Given the description of an element on the screen output the (x, y) to click on. 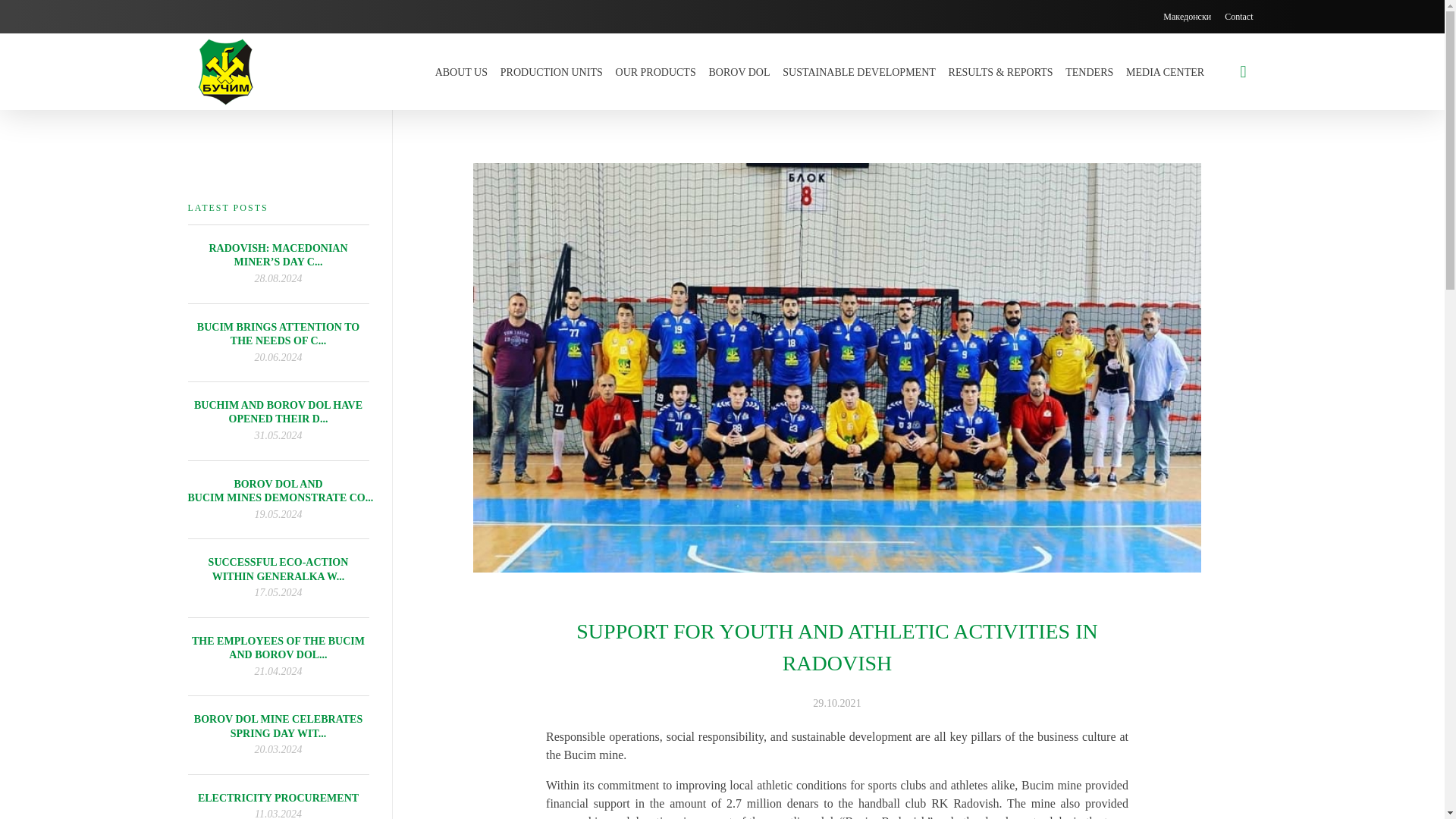
THE EMPLOYEES OF THE BUCIM AND BOROV DOL... (278, 647)
PRODUCTION UNITS (550, 71)
MEDIA CENTER (1165, 71)
SUCCESSFUL ECO-ACTION WITHIN GENERALKA W... (278, 568)
BOROV DOL MINE CELEBRATES SPRING DAY WIT... (277, 725)
ELECTRICITY PROCUREMENT (278, 797)
OUR PRODUCTS (654, 71)
BUCHIM AND BOROV DOL HAVE OPENED THEIR D... (277, 412)
BUCIM BRINGS ATTENTION TO THE NEEDS OF C... (277, 333)
SUSTAINABLE DEVELOPMENT (859, 71)
